Given the description of an element on the screen output the (x, y) to click on. 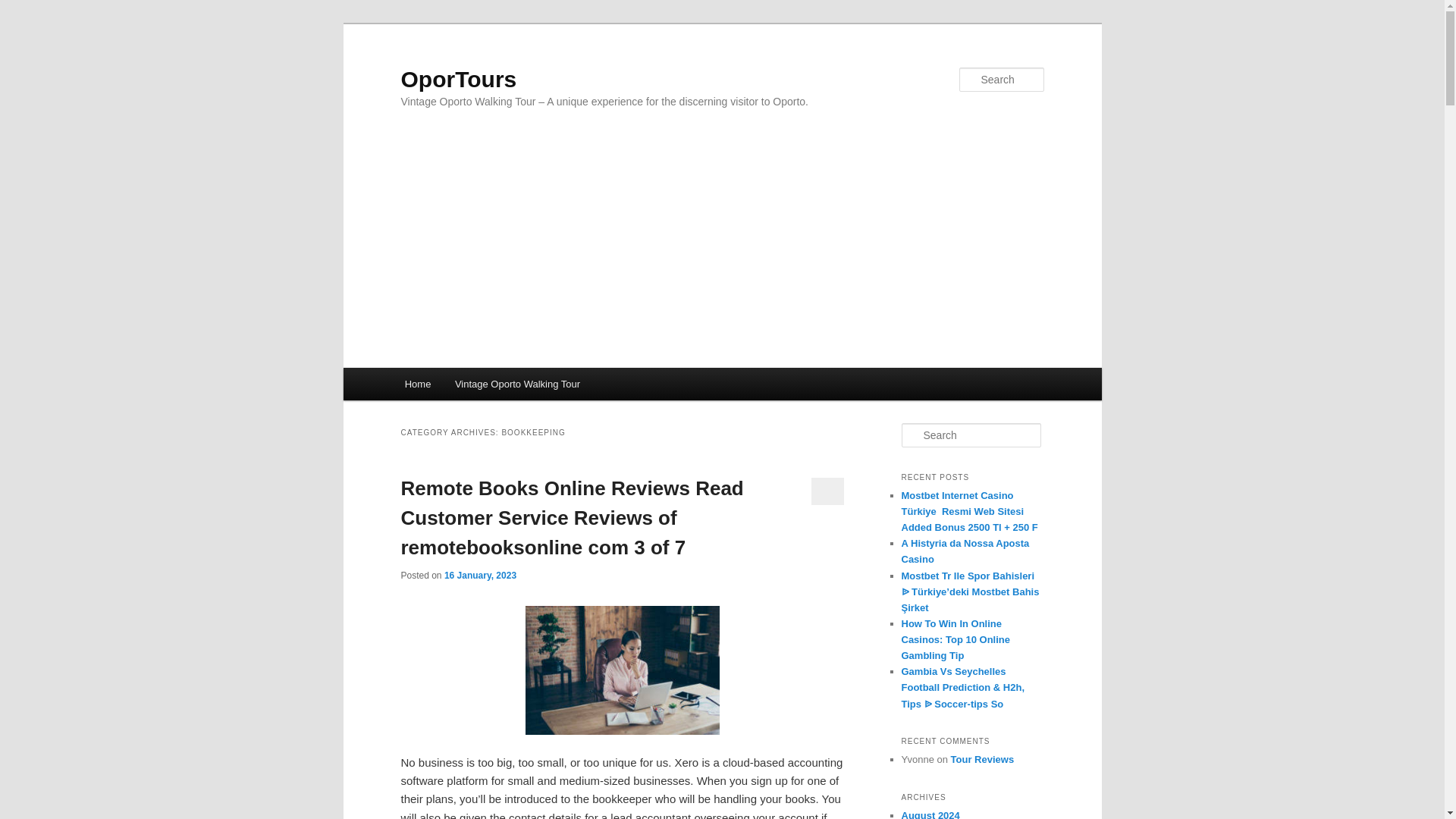
Vintage Oporto Walking Tour (517, 383)
OporTours (458, 78)
Tour Reviews (982, 758)
How To Win In Online Casinos: Top 10 Online Gambling Tip (955, 639)
August 2024 (930, 814)
Home (417, 383)
16 January, 2023 (480, 575)
6:12 pm (480, 575)
Search (21, 11)
Skip to secondary content (479, 386)
